Given the description of an element on the screen output the (x, y) to click on. 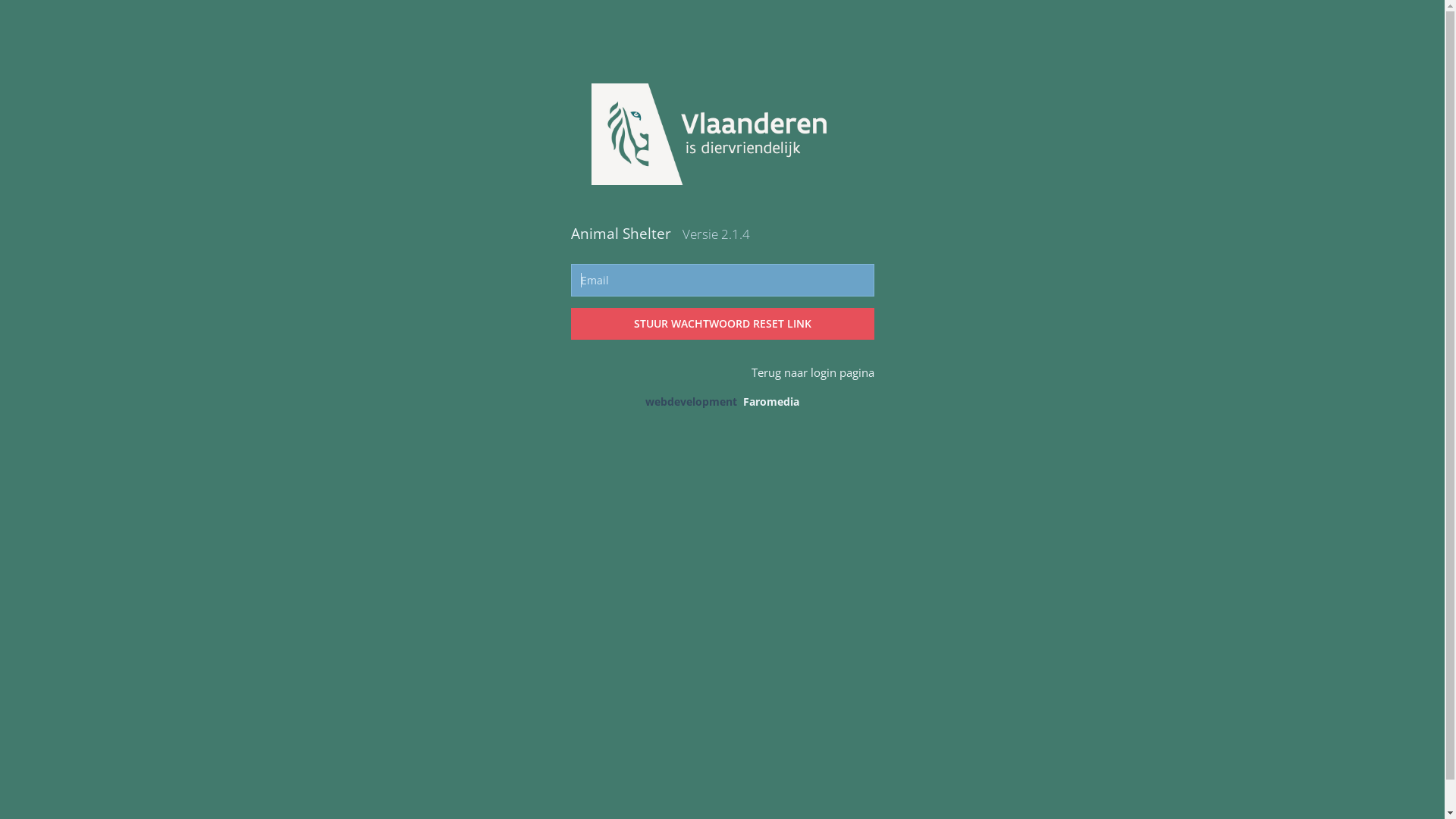
STUUR WACHTWOORD RESET LINK Element type: text (721, 323)
Faromedia Element type: text (771, 401)
Terug naar login pagina Element type: text (811, 371)
